Given the description of an element on the screen output the (x, y) to click on. 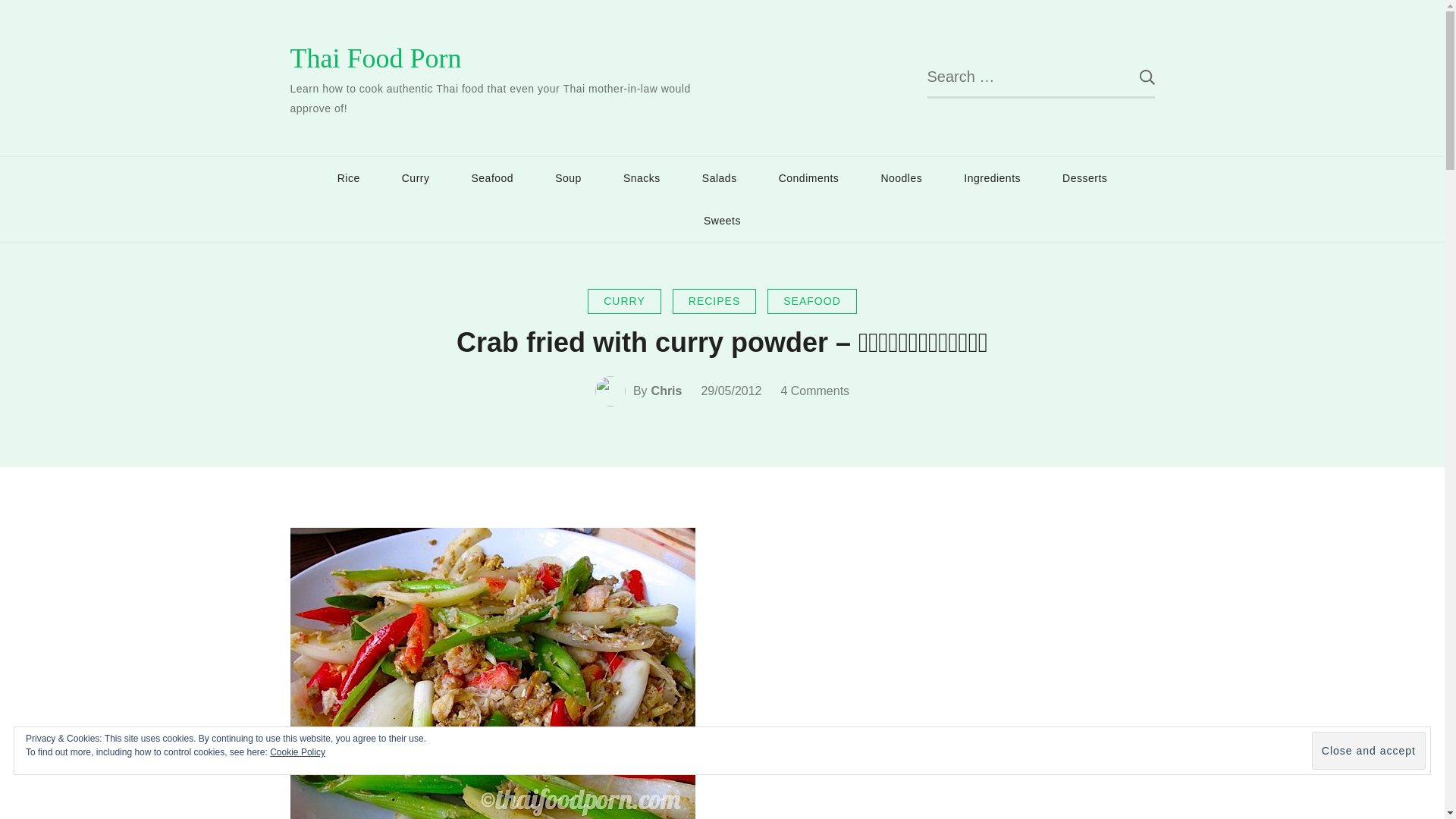
Seafood (491, 178)
Noodles (900, 178)
Rice (348, 178)
CURRY (624, 301)
Close and accept (1368, 750)
Desserts (1084, 178)
Cookie Policy (296, 751)
SEAFOOD (811, 301)
Salads (718, 178)
Close and accept (1368, 750)
